Given the description of an element on the screen output the (x, y) to click on. 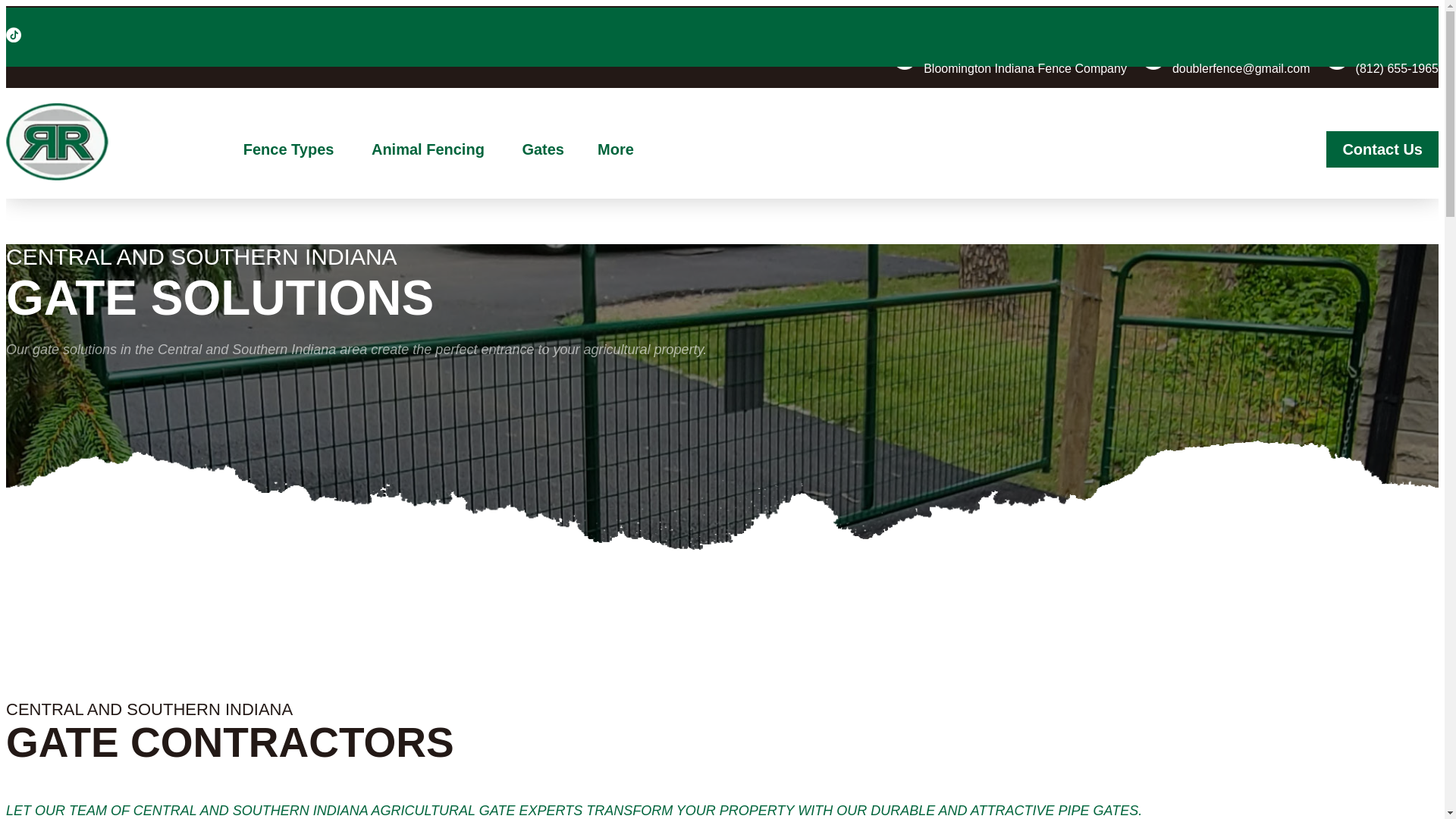
Bloomington Indiana Fence Company (1024, 68)
Fence Types (291, 149)
Board Fence (333, 216)
